Given the description of an element on the screen output the (x, y) to click on. 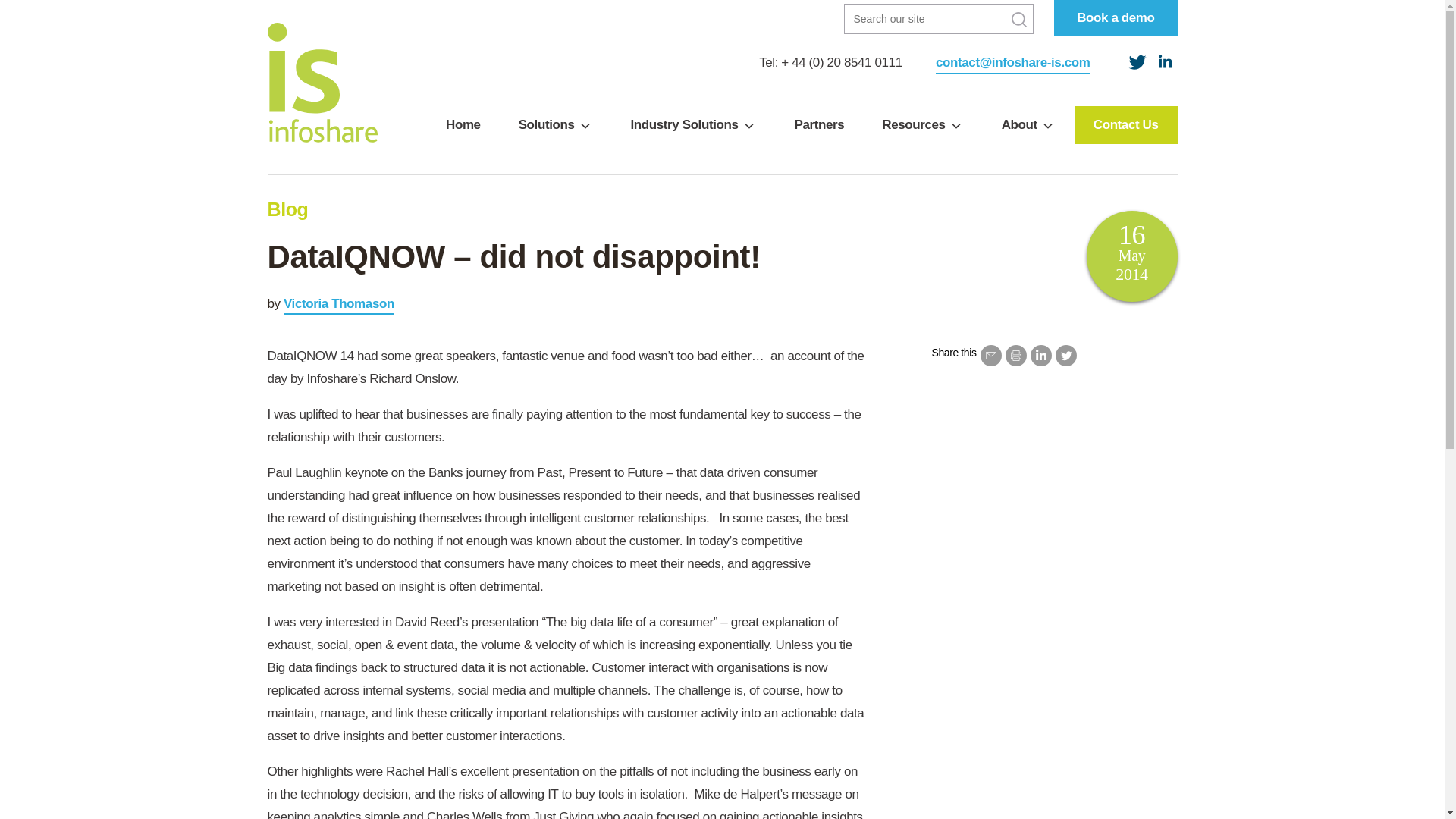
Book a demo (1115, 18)
Contact Us (1125, 125)
Home (462, 125)
Industry Solutions (693, 125)
Resources (922, 125)
About (1028, 125)
Partners (819, 125)
Victoria Thomason (338, 304)
Share by email (990, 355)
GO (1019, 19)
GO (1019, 19)
Infoshare (321, 82)
Solutions (555, 125)
